Given the description of an element on the screen output the (x, y) to click on. 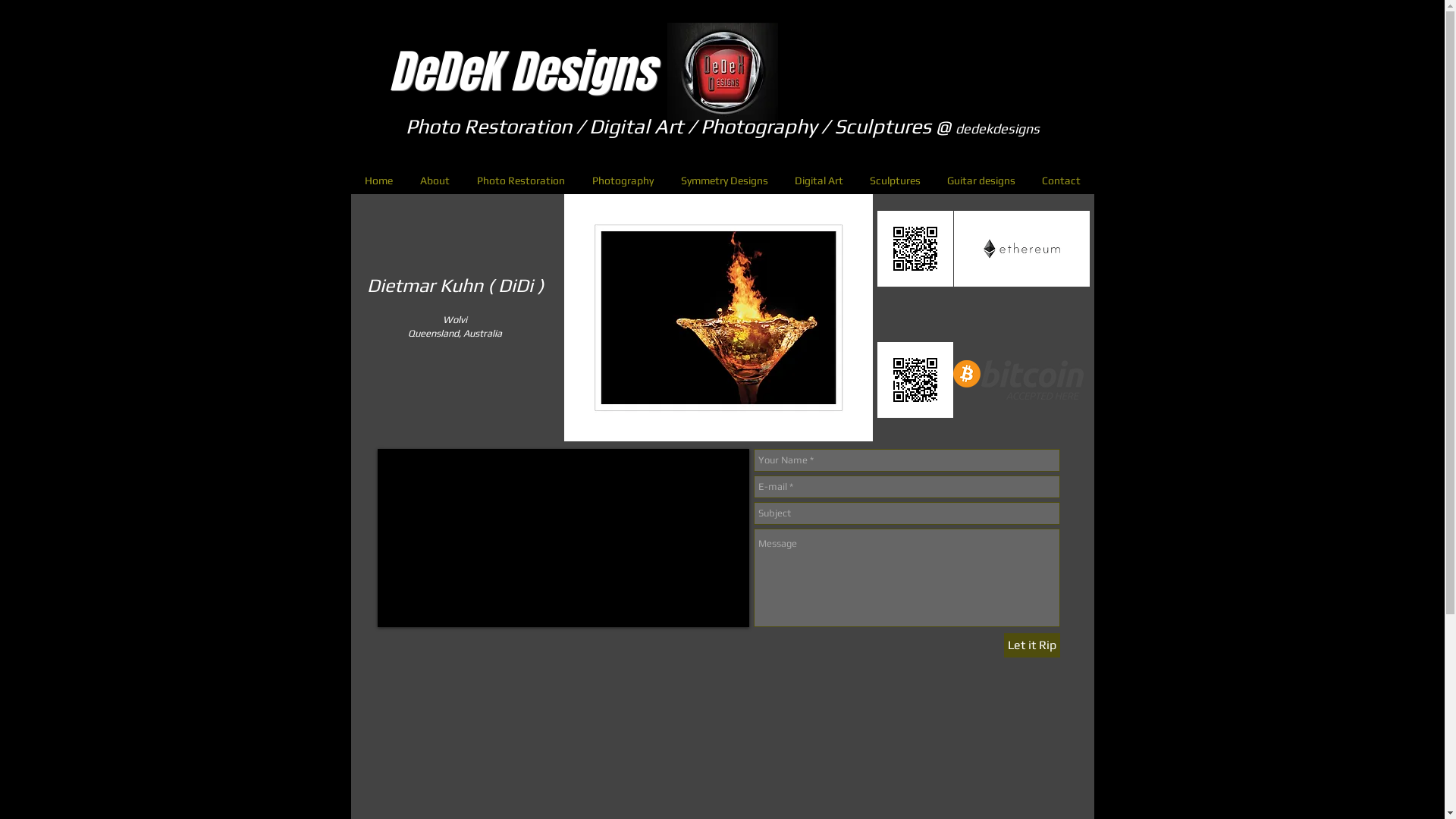
Symmetry Designs Element type: text (724, 180)
Google Maps Element type: hover (563, 537)
About Element type: text (434, 180)
BTC Coinomi.jpg Element type: hover (914, 379)
Home Element type: text (377, 180)
Let it Rip Element type: text (1032, 645)
bitcoin_PNG12.png Element type: hover (1017, 379)
Photography Element type: text (621, 180)
Digital Art Element type: text (818, 180)
Photo Restoration Element type: text (519, 180)
Sculptures Element type: text (895, 180)
glass01.jpg Element type: hover (718, 317)
ETH Coinomi.jpg Element type: hover (914, 248)
Contact Element type: text (1060, 180)
Guitar designs Element type: text (981, 180)
eth.png Element type: hover (1021, 248)
